Given the description of an element on the screen output the (x, y) to click on. 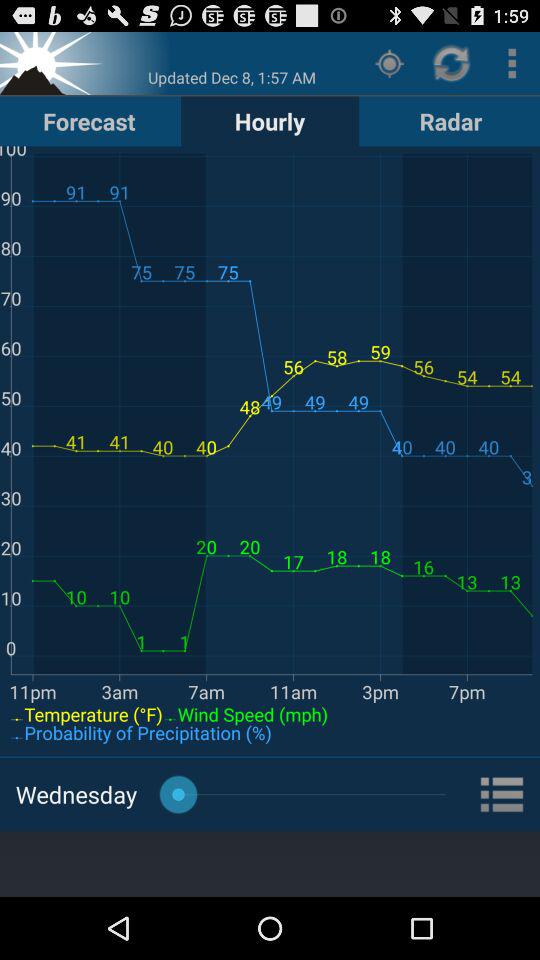
set location (53, 62)
